Given the description of an element on the screen output the (x, y) to click on. 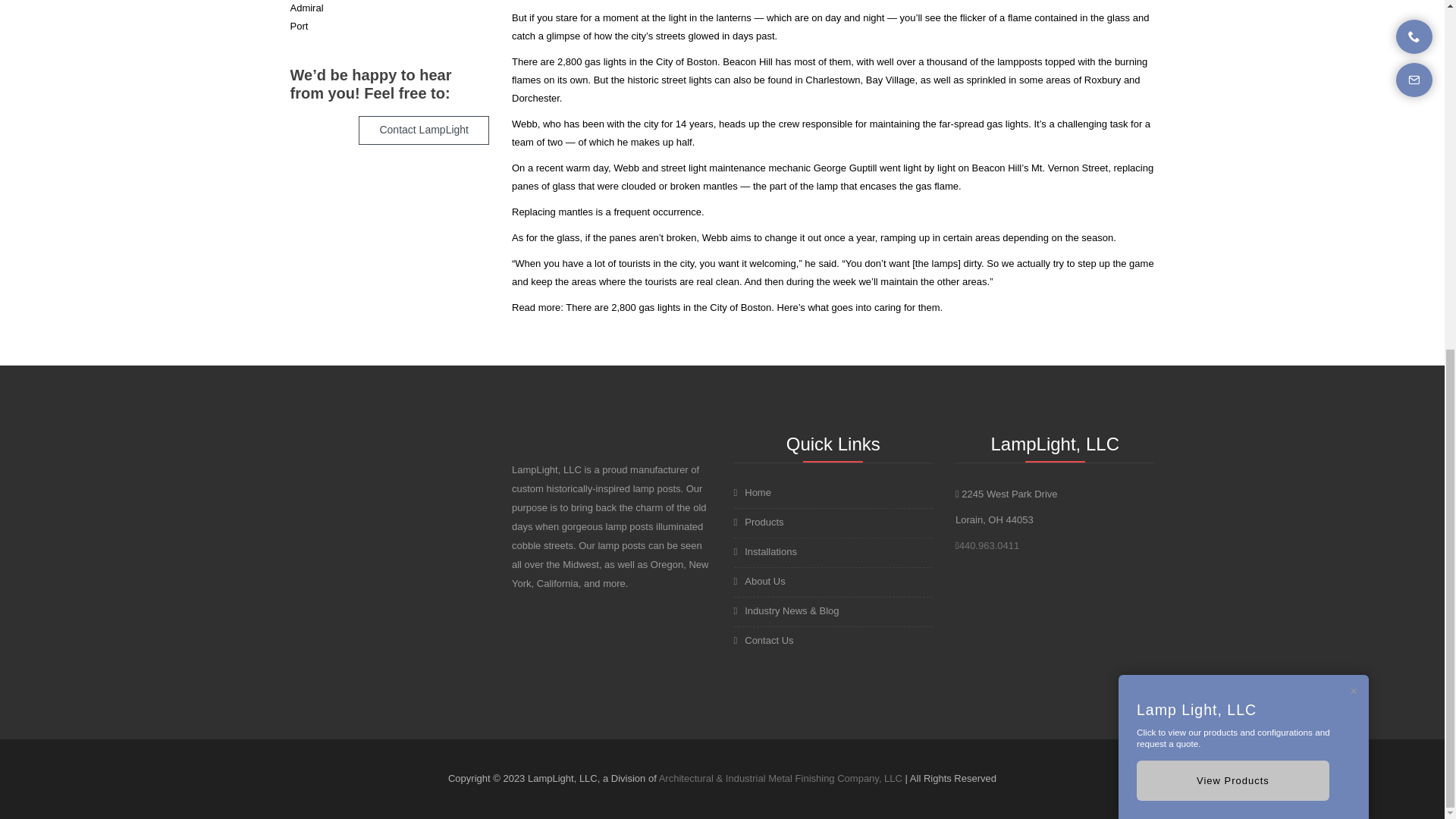
440.963.0411 (989, 545)
Installations (833, 551)
Home (833, 492)
Products (833, 522)
Admiral (306, 7)
About Us (833, 581)
Contact LampLight (423, 130)
View Products (1233, 176)
Contact Us (833, 640)
Port (298, 25)
